Given the description of an element on the screen output the (x, y) to click on. 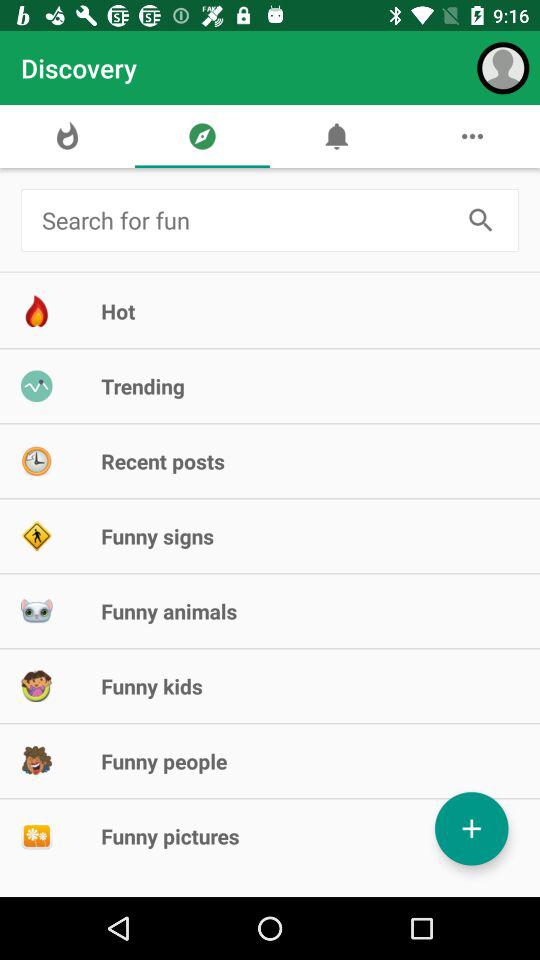
tap the item at the bottom right corner (471, 828)
